Given the description of an element on the screen output the (x, y) to click on. 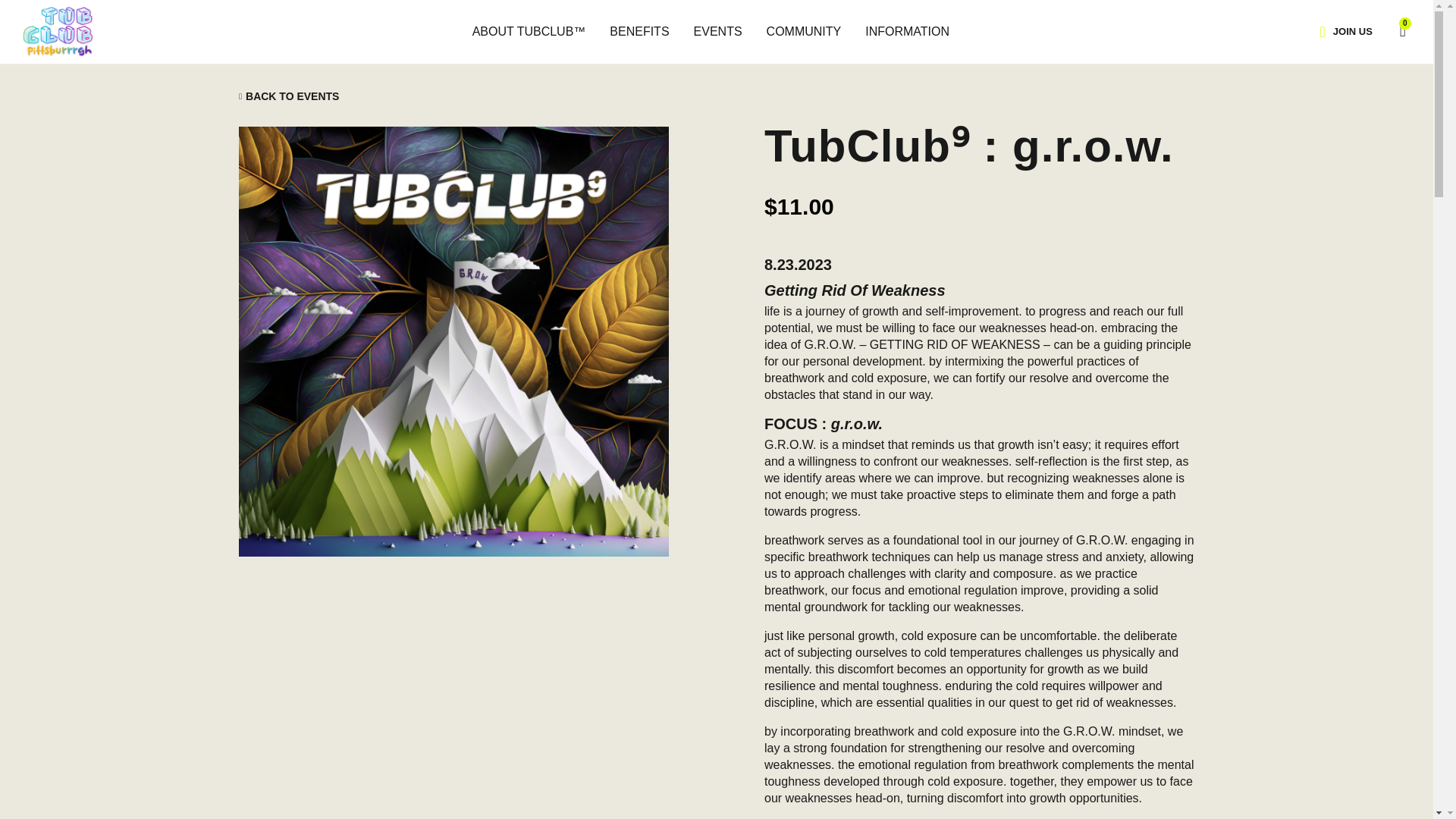
JOIN US (1352, 31)
0 (1396, 30)
